Given the description of an element on the screen output the (x, y) to click on. 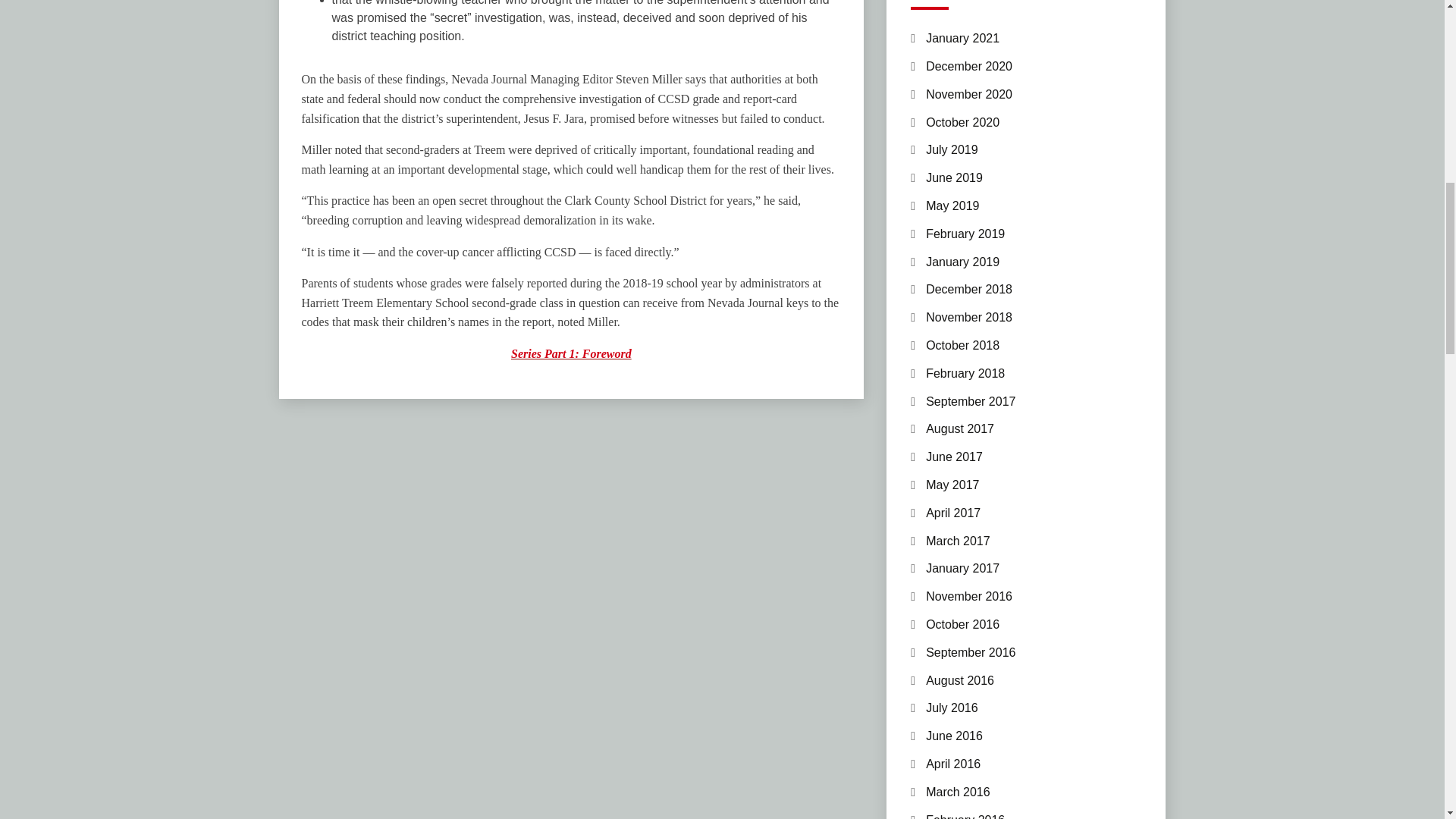
January 2021 (962, 38)
December 2020 (968, 65)
July 2019 (952, 149)
Series Part 1: Foreword (571, 353)
November 2020 (968, 93)
October 2020 (962, 122)
